Given the description of an element on the screen output the (x, y) to click on. 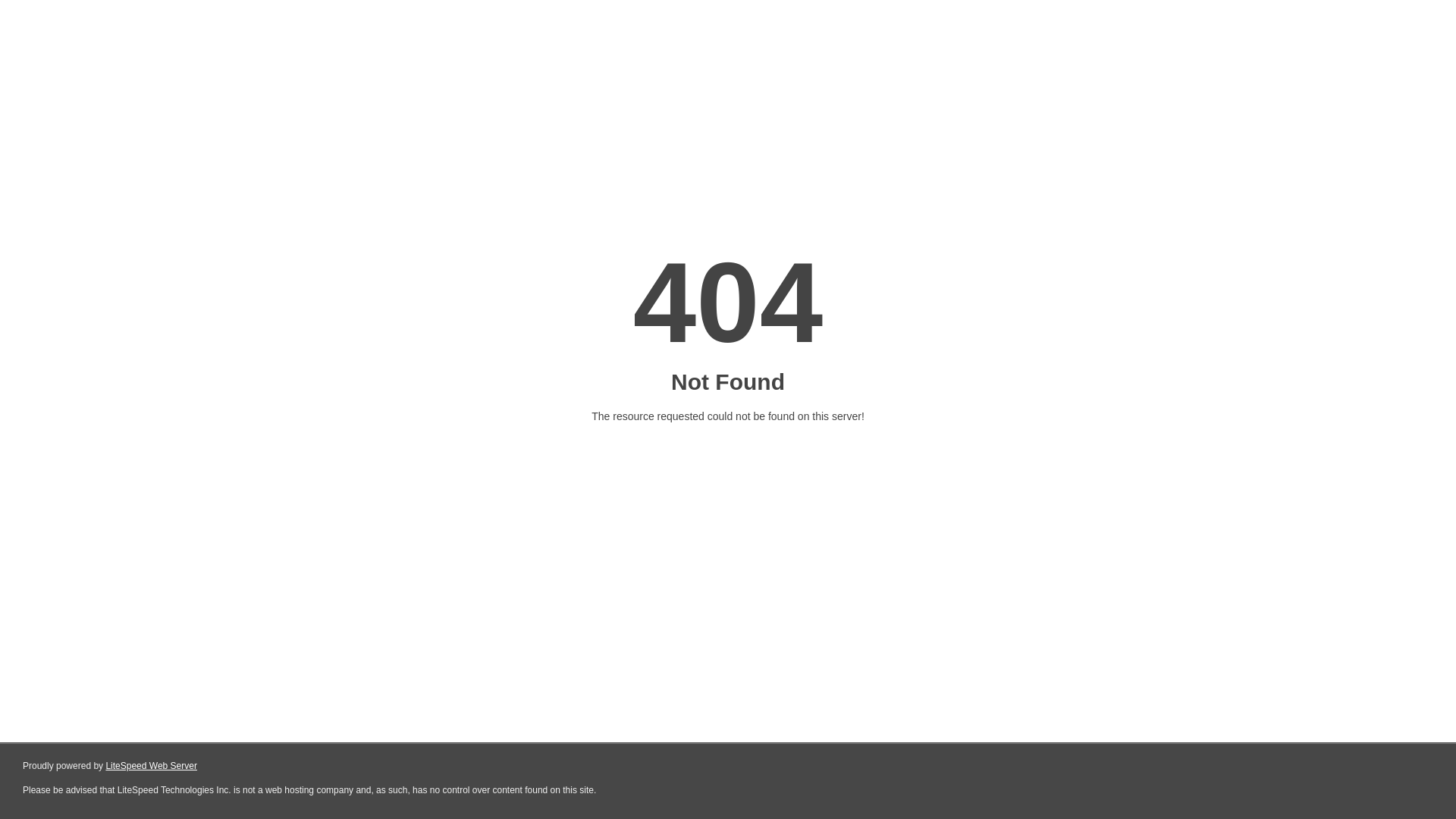
LiteSpeed Web Server Element type: text (151, 765)
